Given the description of an element on the screen output the (x, y) to click on. 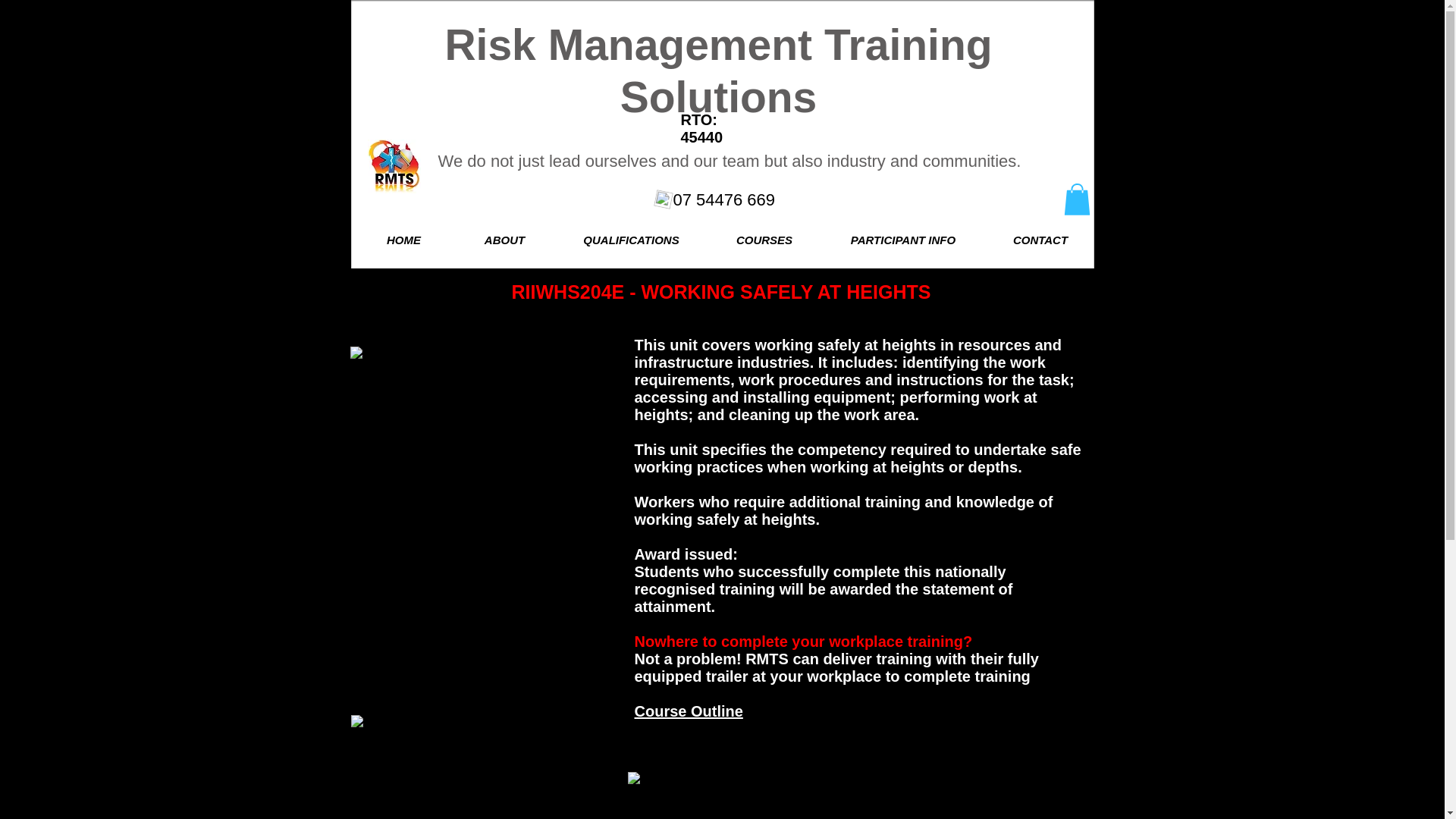
Course Outline (687, 710)
COURSES (764, 239)
QUALIFICATIONS (631, 239)
PARTICIPANT INFO (903, 239)
CONTACT (1040, 239)
ABOUT (504, 239)
HOME (403, 239)
